Given the description of an element on the screen output the (x, y) to click on. 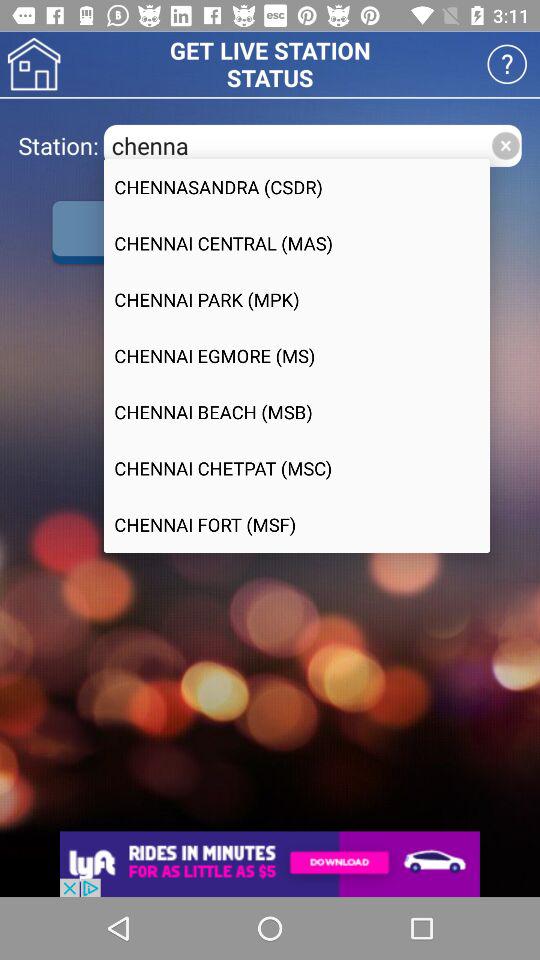
open the advertisement (270, 864)
